Given the description of an element on the screen output the (x, y) to click on. 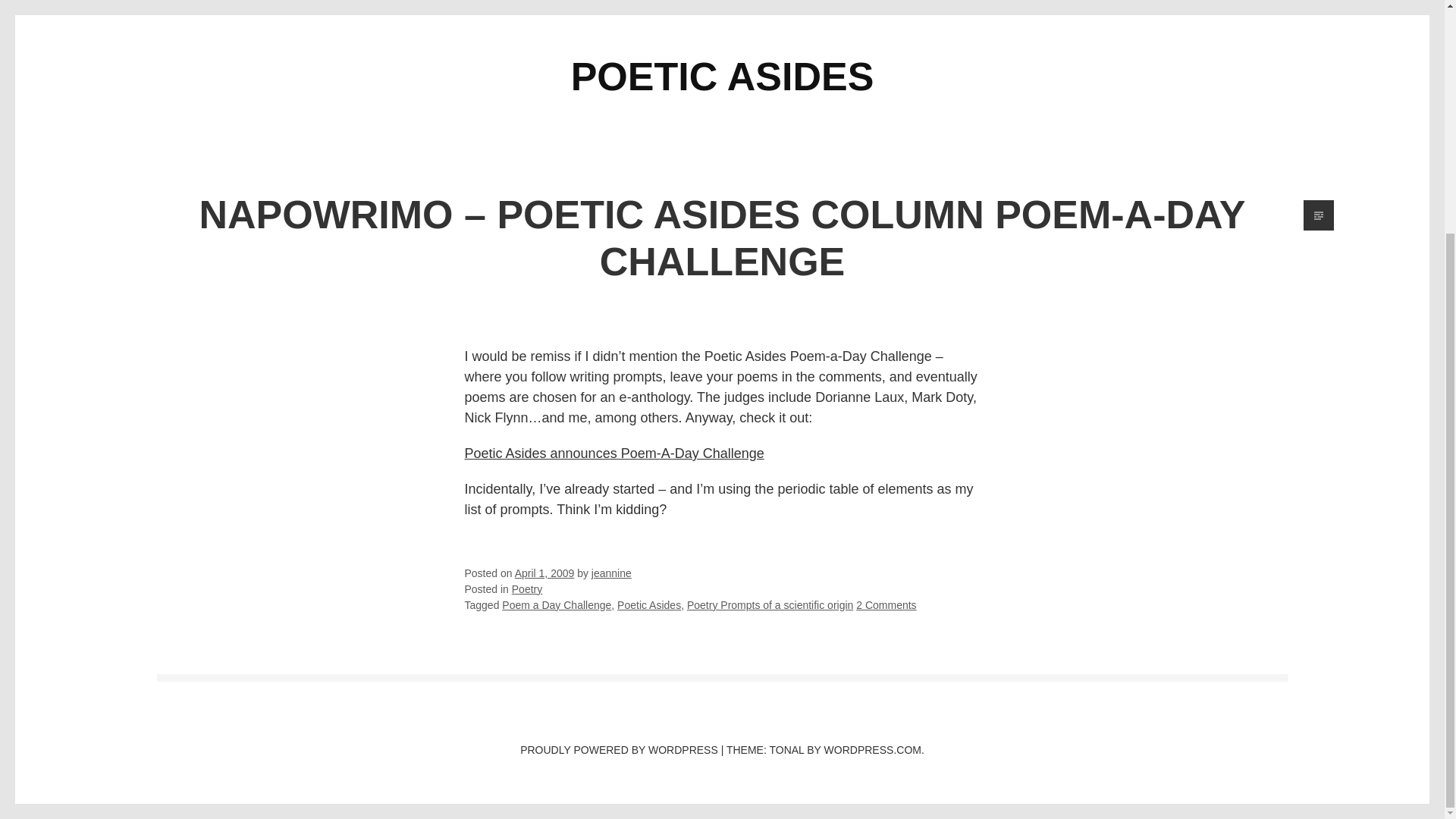
April 1, 2009 (545, 573)
Poetry Prompts of a scientific origin (770, 604)
2 Comments (885, 604)
jeannine (611, 573)
Poetic Asides (649, 604)
Poem a Day Challenge (556, 604)
Poetic Asides announces Poem-A-Day Challenge (613, 453)
Poetry (526, 589)
